Given the description of an element on the screen output the (x, y) to click on. 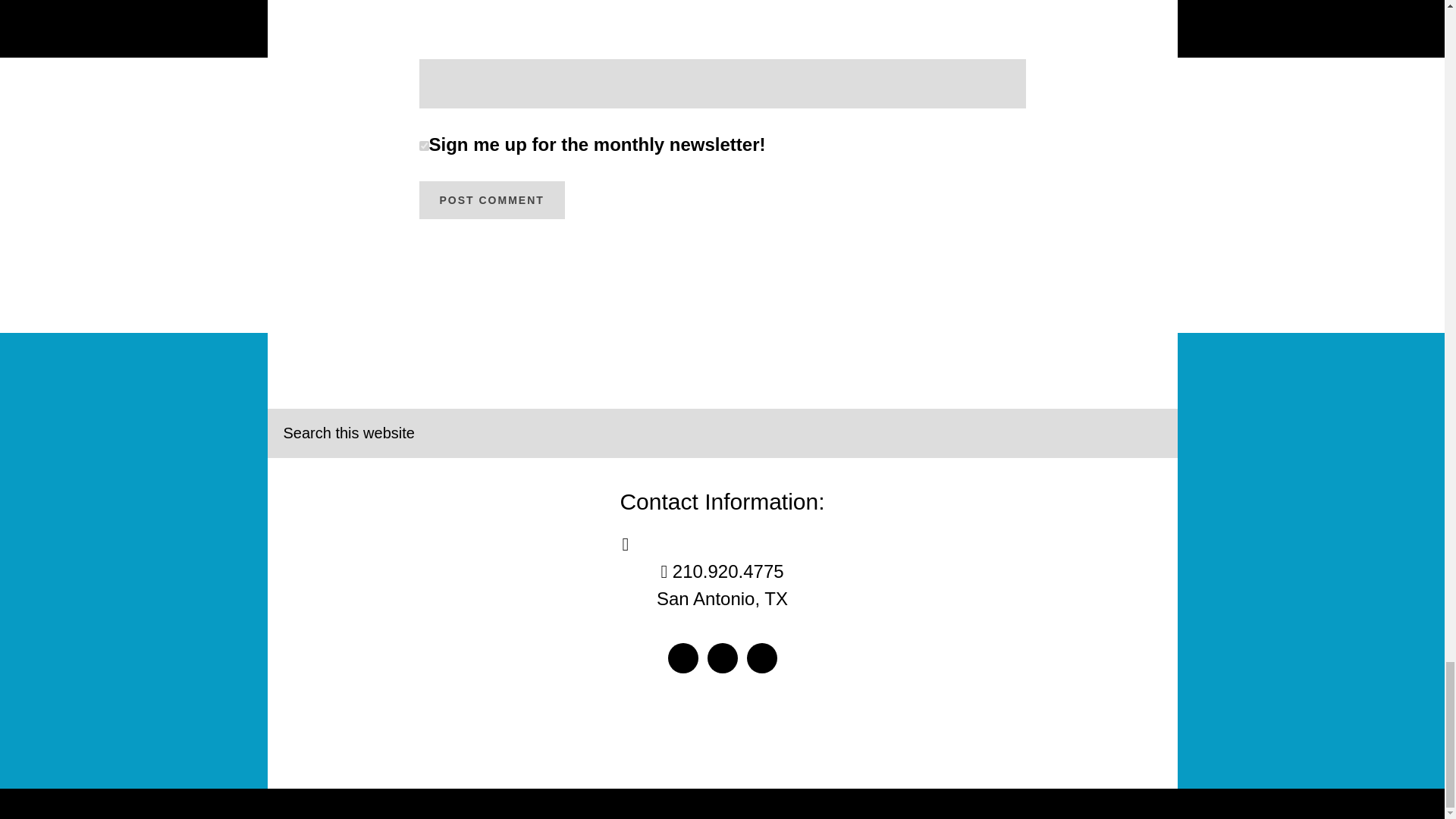
Post Comment (491, 199)
Post Comment (491, 199)
1 (423, 145)
